Given the description of an element on the screen output the (x, y) to click on. 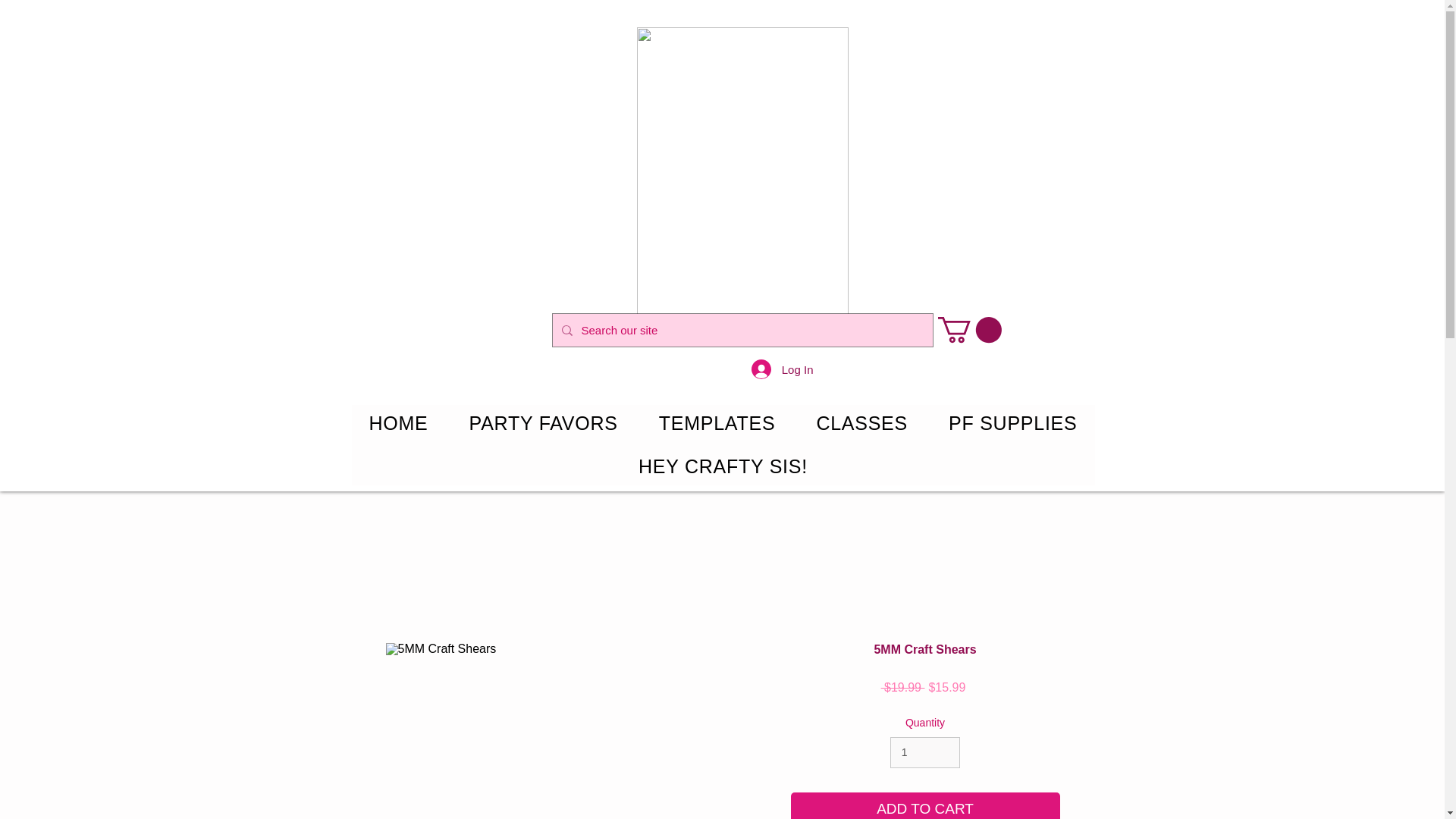
HEY CRAFTY SIS! (723, 466)
TEMPLATES (717, 423)
PF SUPPLIES (1012, 423)
1 (924, 752)
ADD TO CART (924, 805)
Log In (782, 369)
CLASSES (860, 423)
HOME (398, 423)
PARTY FAVORS (542, 423)
